Given the description of an element on the screen output the (x, y) to click on. 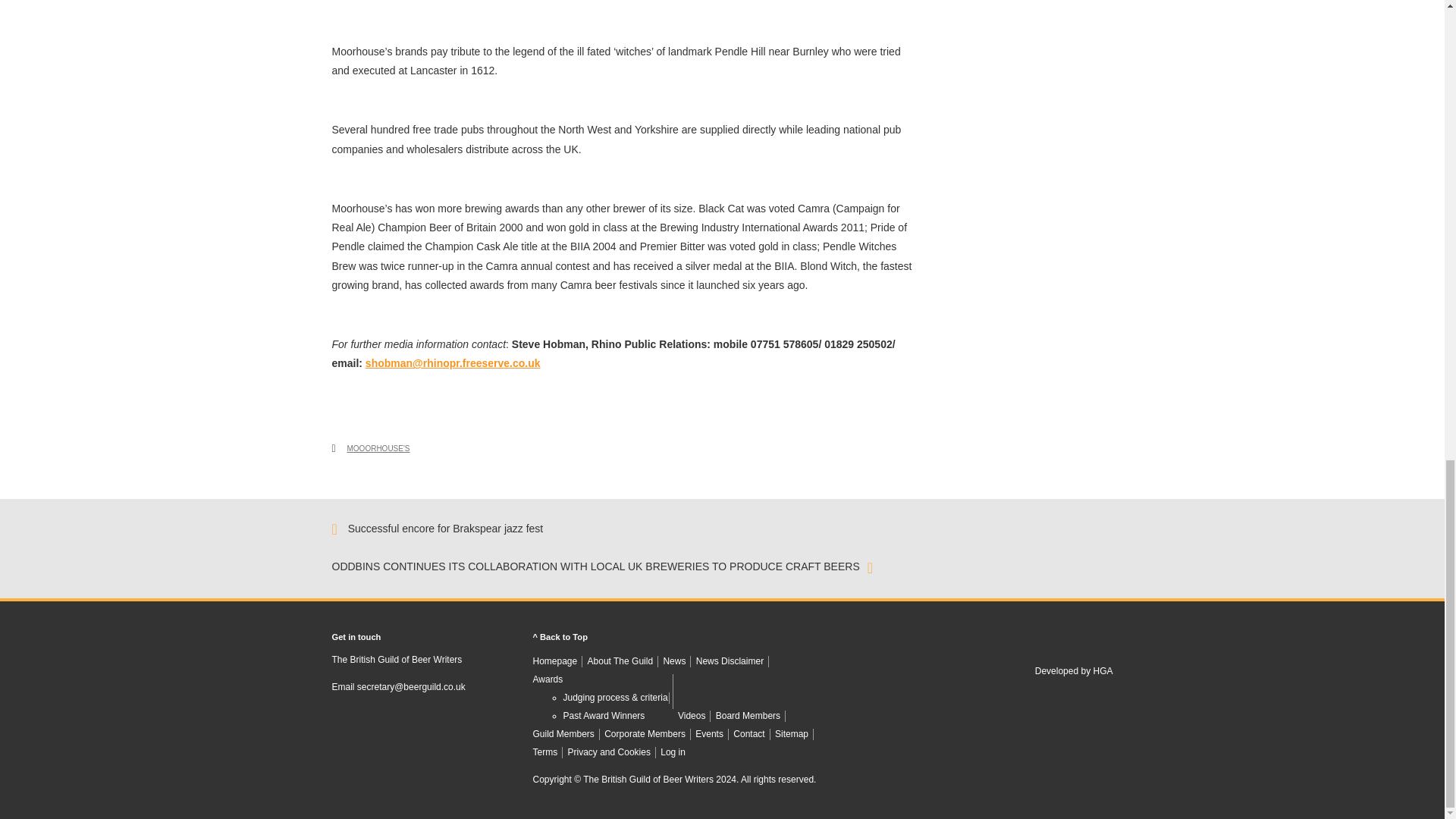
MOOORHOUSE'S (378, 448)
